Given the description of an element on the screen output the (x, y) to click on. 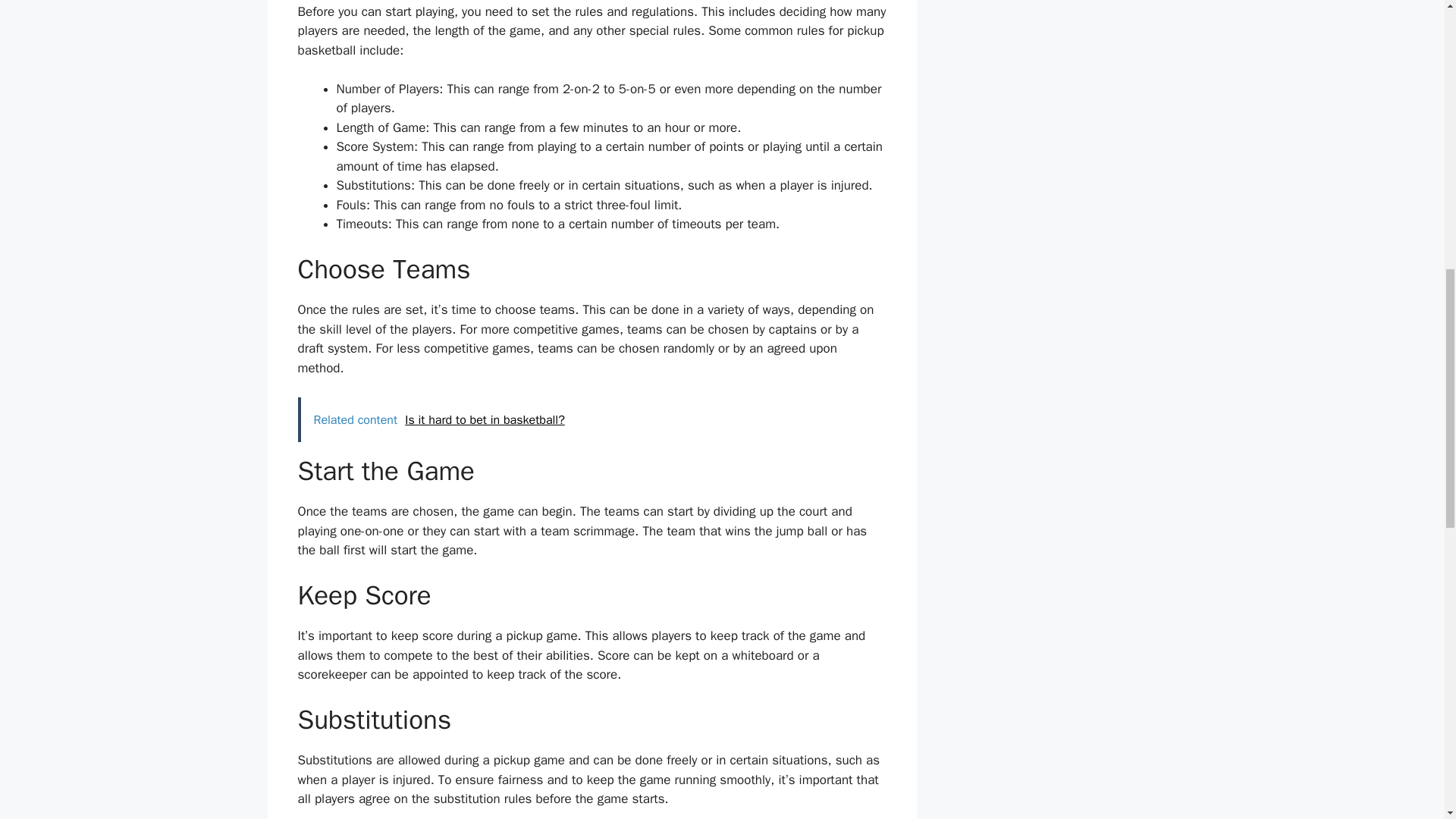
Scroll back to top (1406, 720)
Related content  Is it hard to bet in basketball? (591, 420)
